Given the description of an element on the screen output the (x, y) to click on. 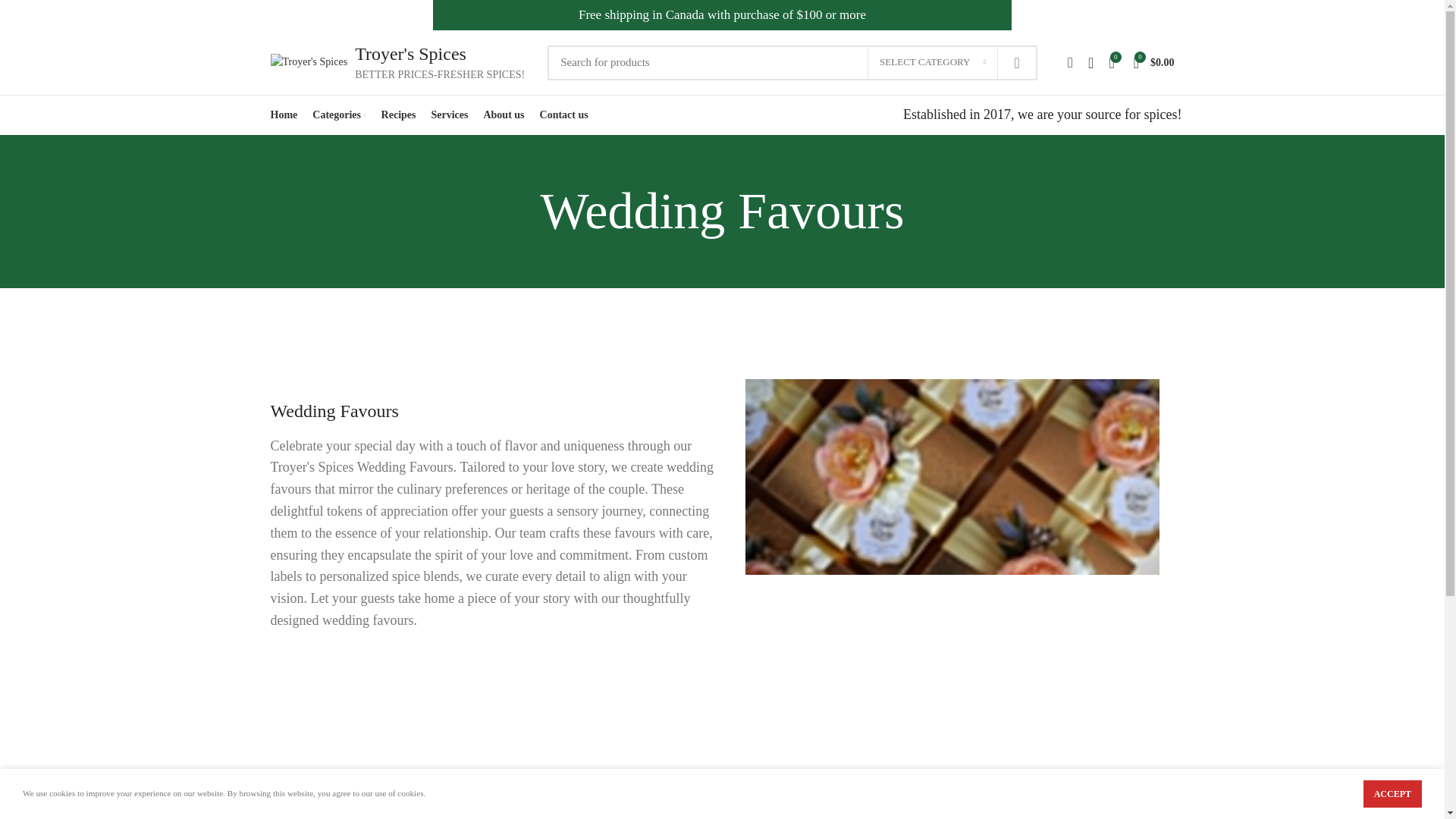
Services (449, 114)
SEARCH (1016, 62)
SELECT CATEGORY (932, 62)
Home (283, 114)
Search for products (791, 62)
Contact us (563, 114)
Shopping cart (1153, 61)
Recipes (398, 114)
SELECT CATEGORY (932, 62)
About us (503, 114)
Categories (338, 114)
